Given the description of an element on the screen output the (x, y) to click on. 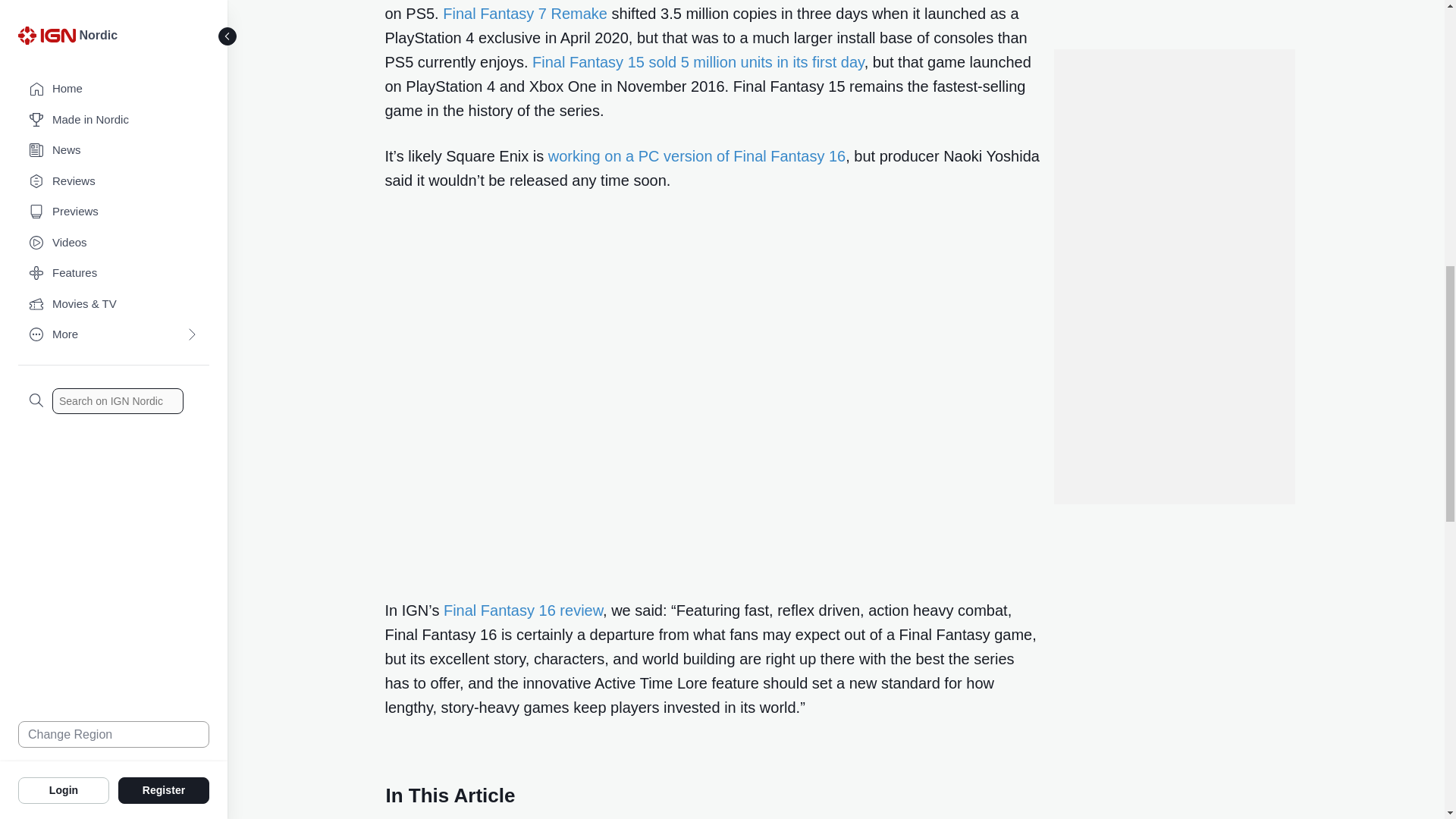
3rd party ad content (1173, 46)
